Given the description of an element on the screen output the (x, y) to click on. 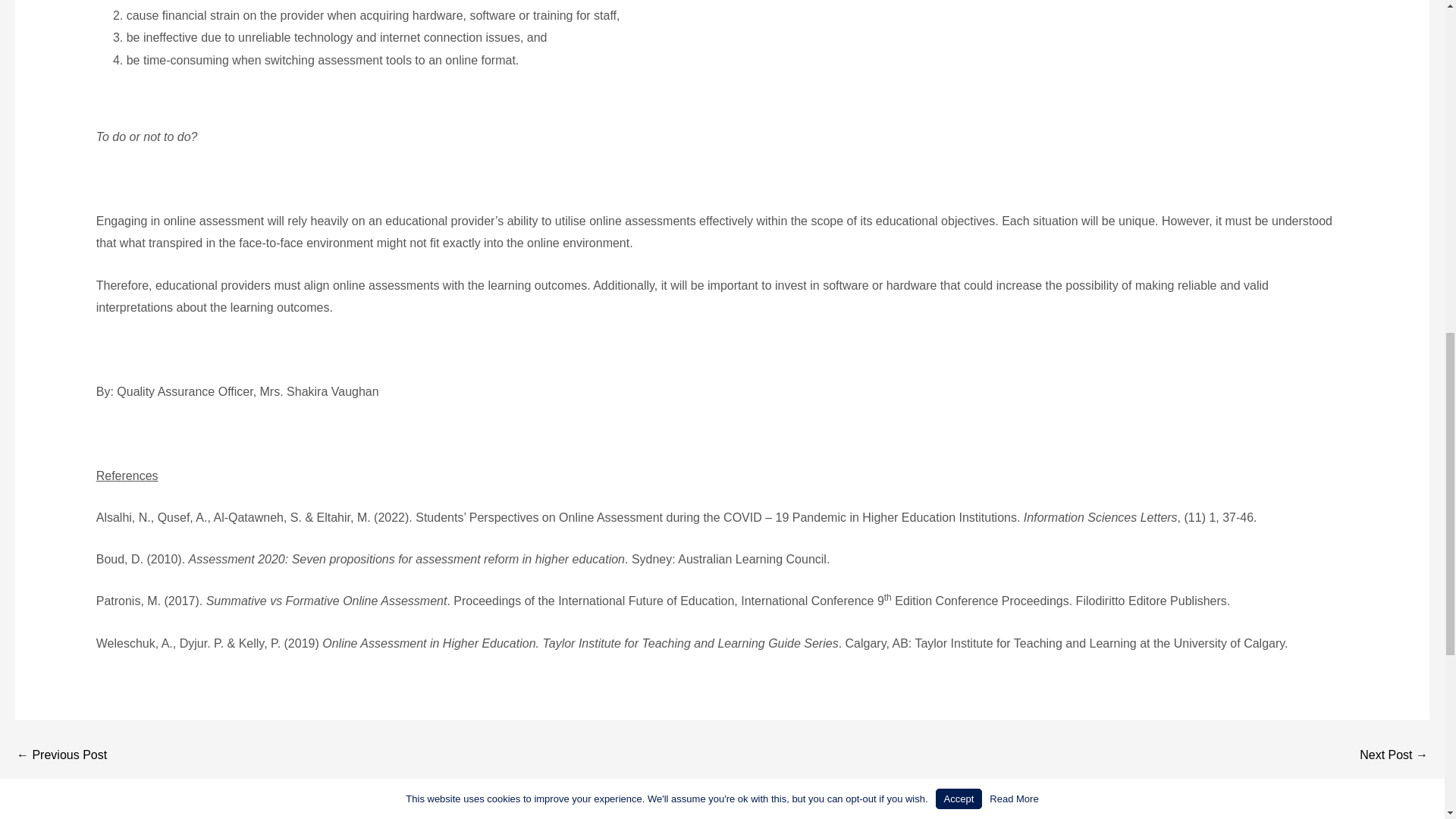
The BAC Welcomes Its New Board Member, Ms. Penny Linton (61, 755)
Quality Conscience: Doing the Right Thing (1393, 755)
